Given the description of an element on the screen output the (x, y) to click on. 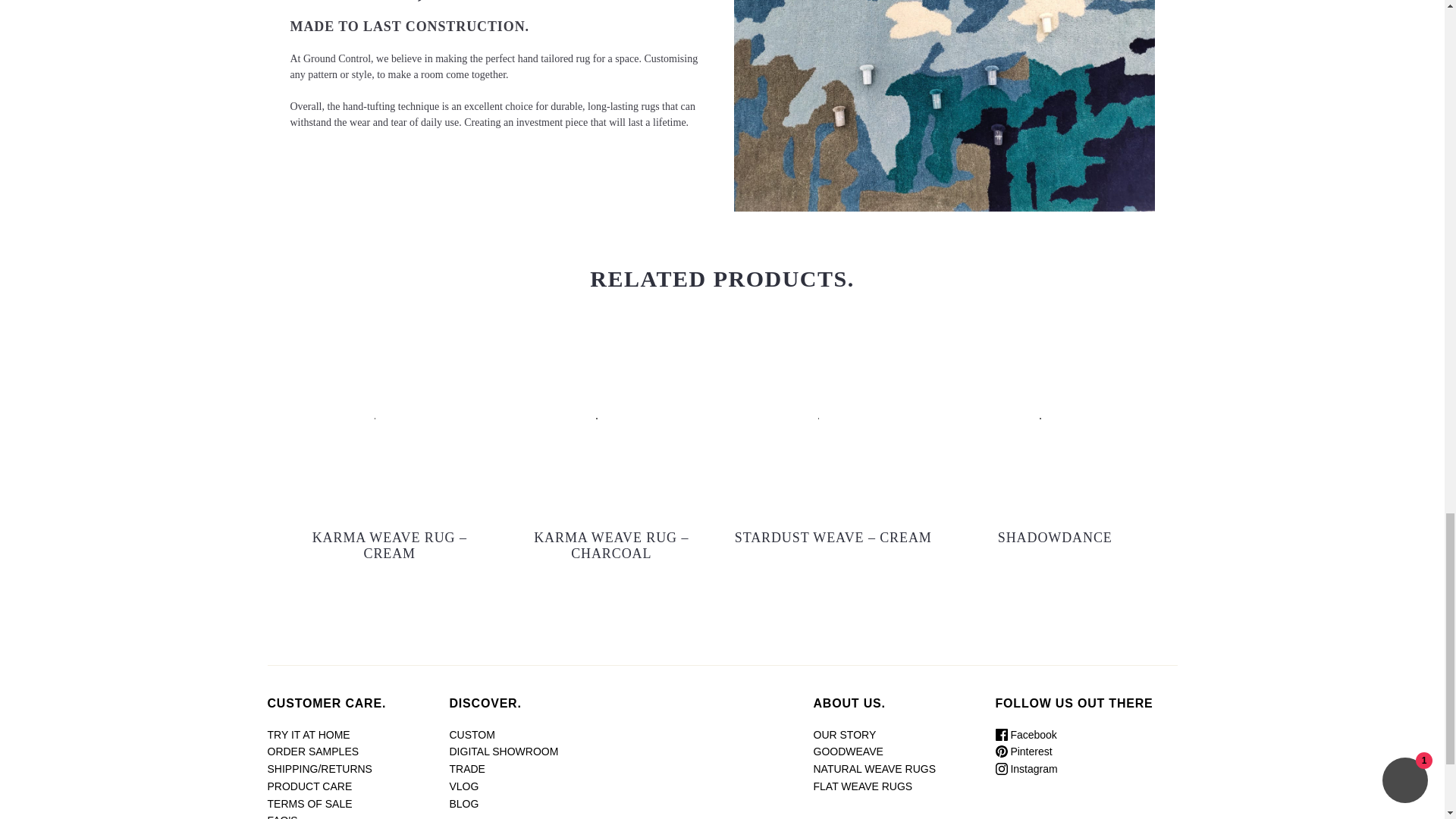
Instagram (1025, 768)
Facebook (1025, 734)
Pinterest (1022, 751)
